Given the description of an element on the screen output the (x, y) to click on. 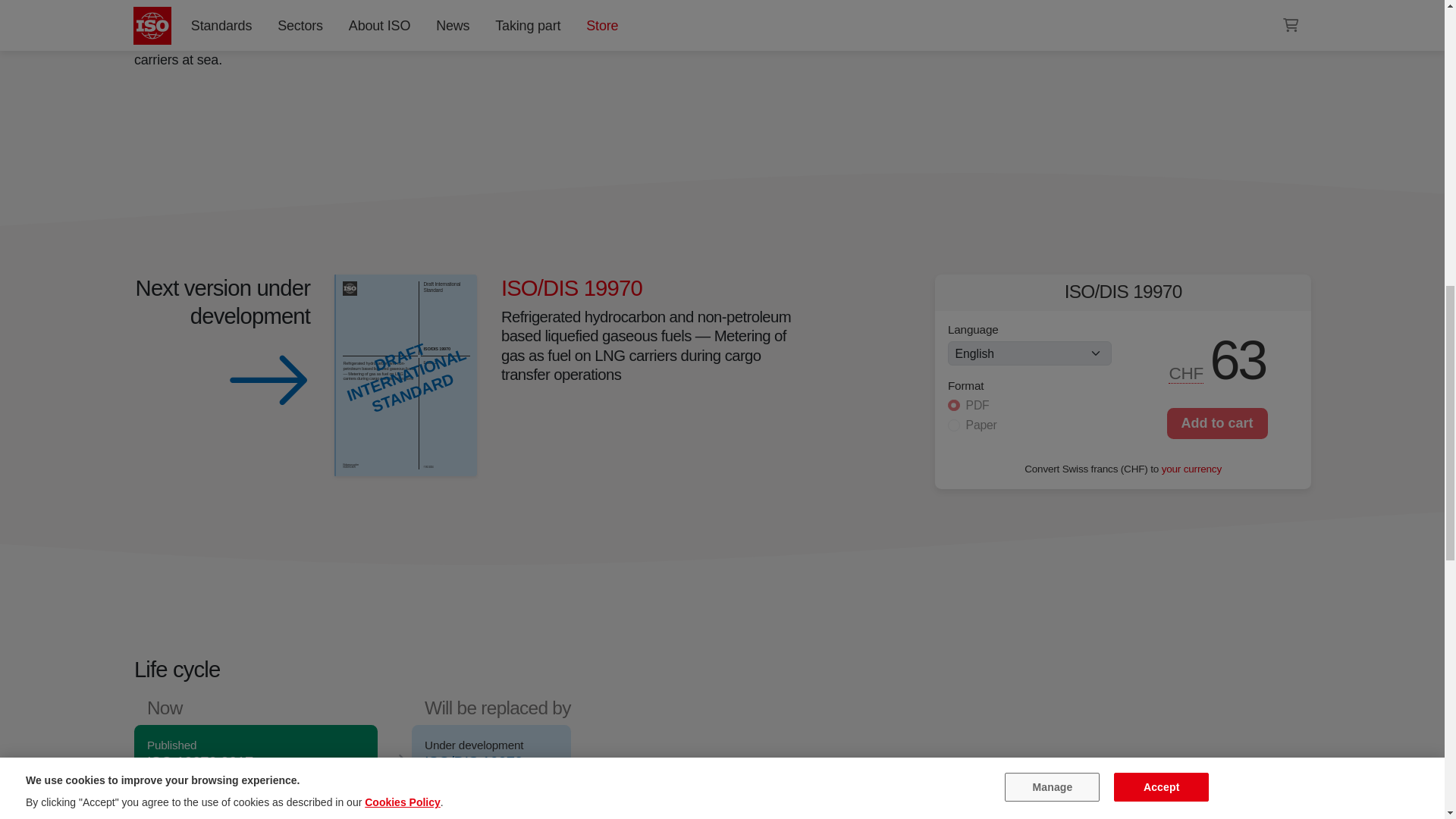
Swiss francs (1186, 373)
